Given the description of an element on the screen output the (x, y) to click on. 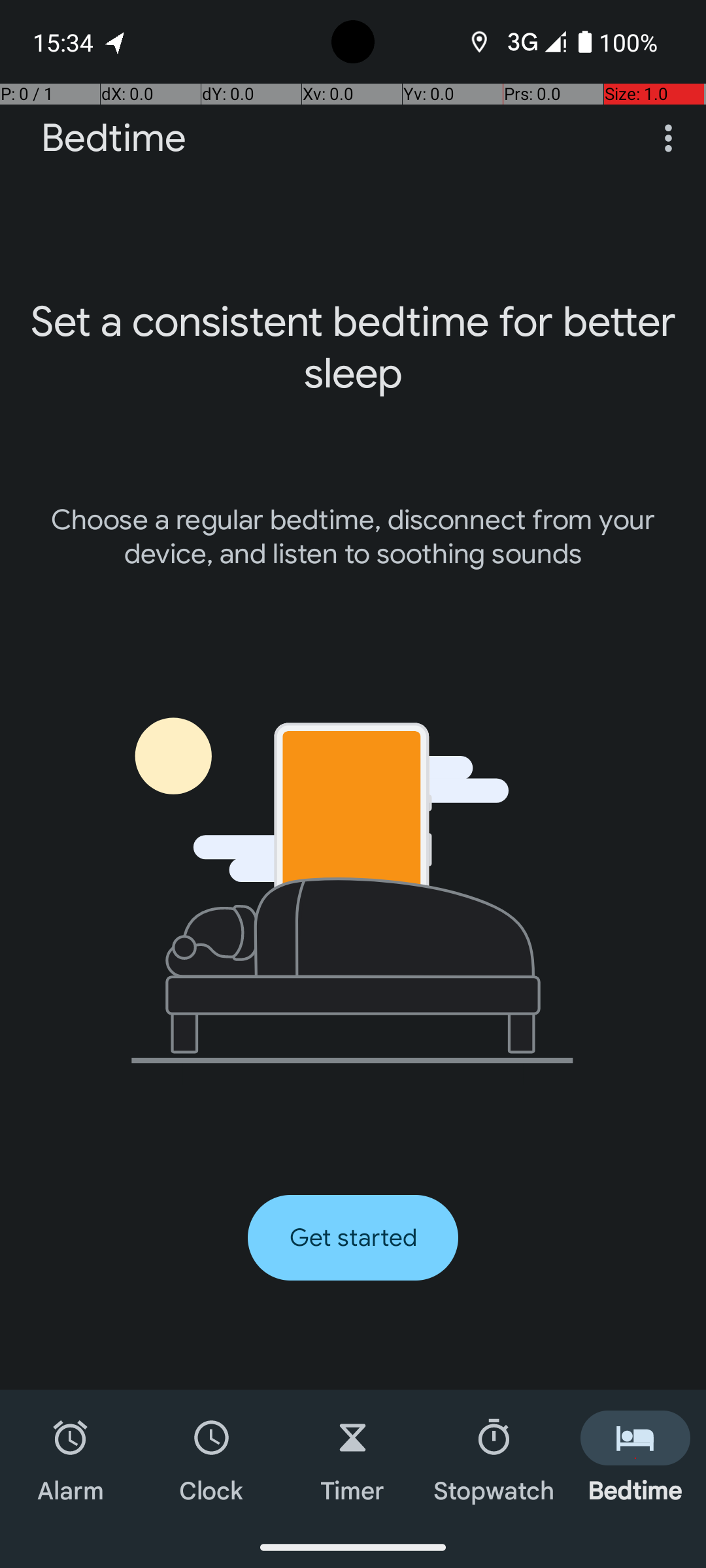
Set a consistent bedtime for better sleep Element type: android.widget.TextView (352, 347)
Choose a regular bedtime, disconnect from your device, and listen to soothing sounds Element type: android.widget.TextView (352, 536)
